Given the description of an element on the screen output the (x, y) to click on. 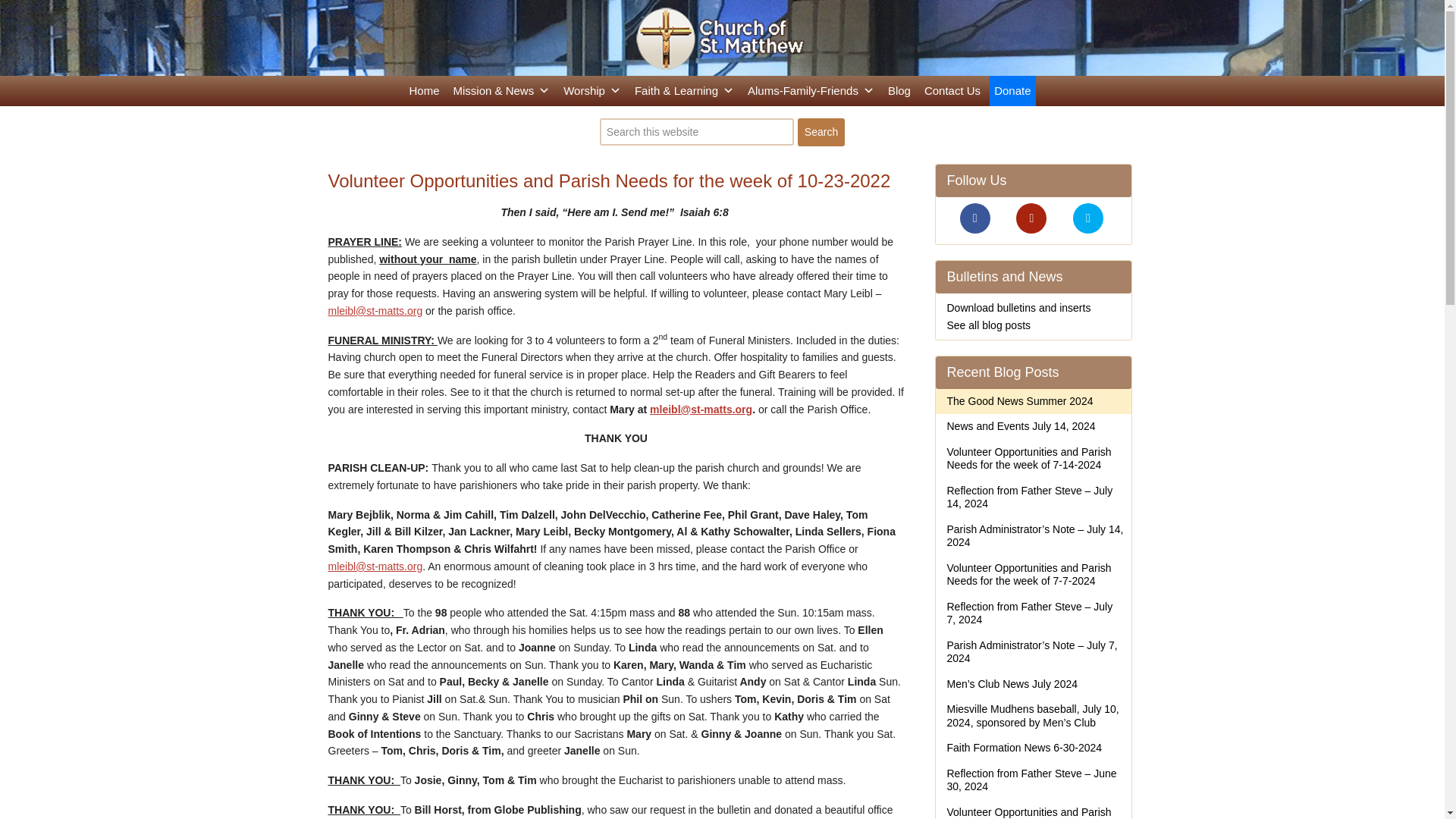
Worship (592, 91)
Alums-Family-Friends (810, 91)
Church of St. Matthew (721, 39)
Blog (899, 91)
Home (424, 91)
Search (820, 131)
Search (820, 131)
